Given the description of an element on the screen output the (x, y) to click on. 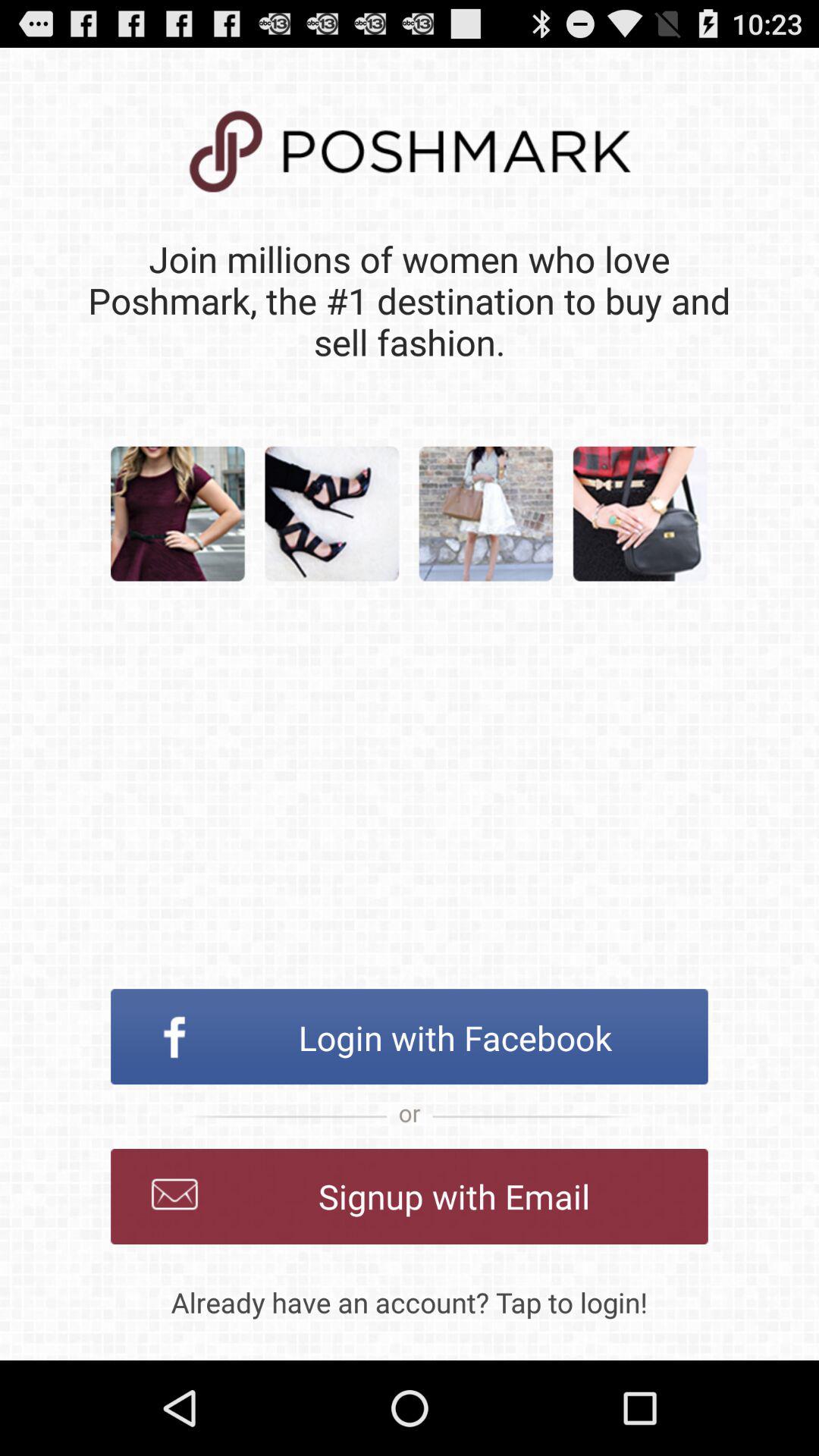
select icon below the or icon (409, 1196)
